Given the description of an element on the screen output the (x, y) to click on. 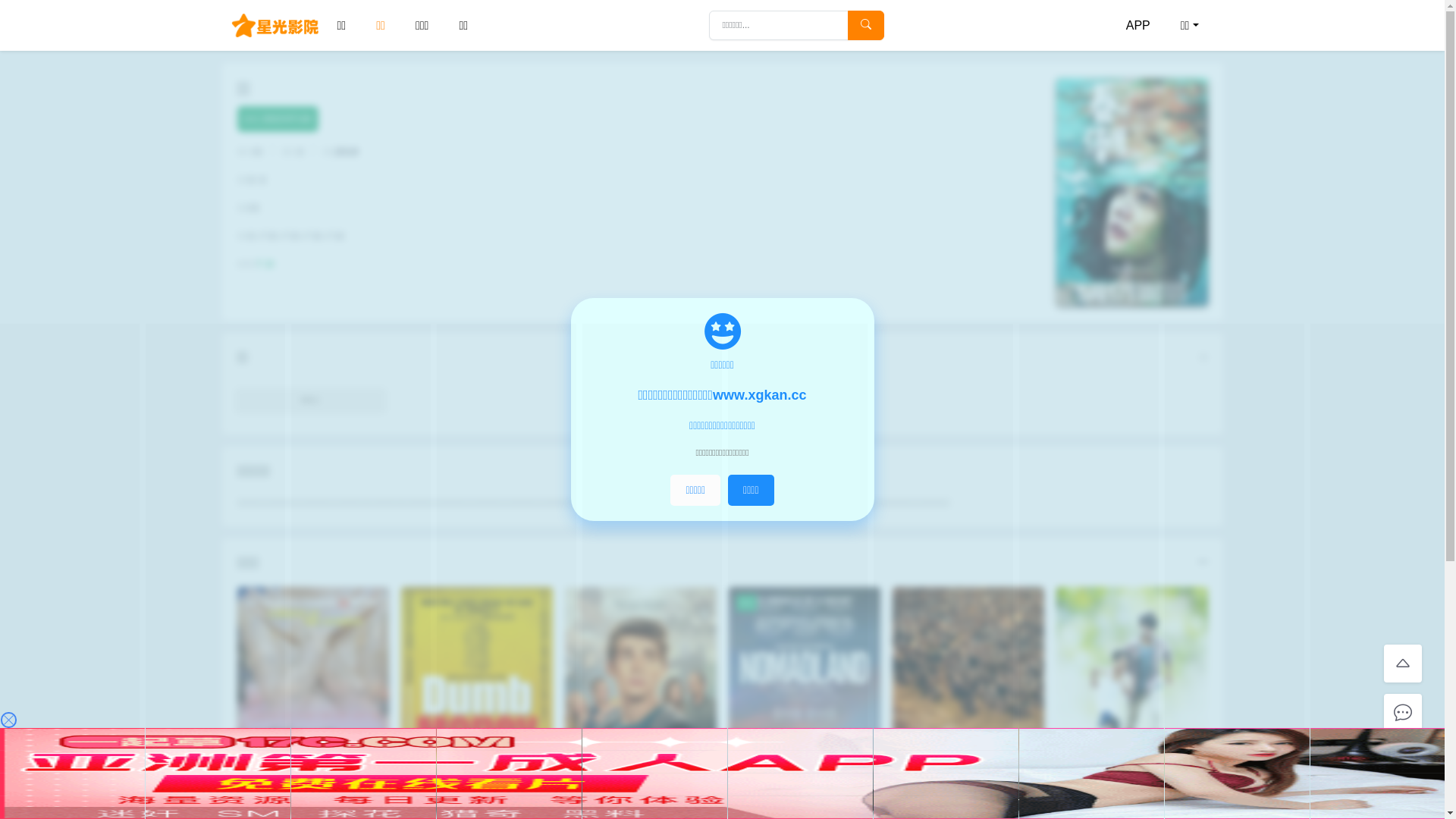
APP Element type: text (1138, 25)
2019 Element type: text (345, 151)
